Given the description of an element on the screen output the (x, y) to click on. 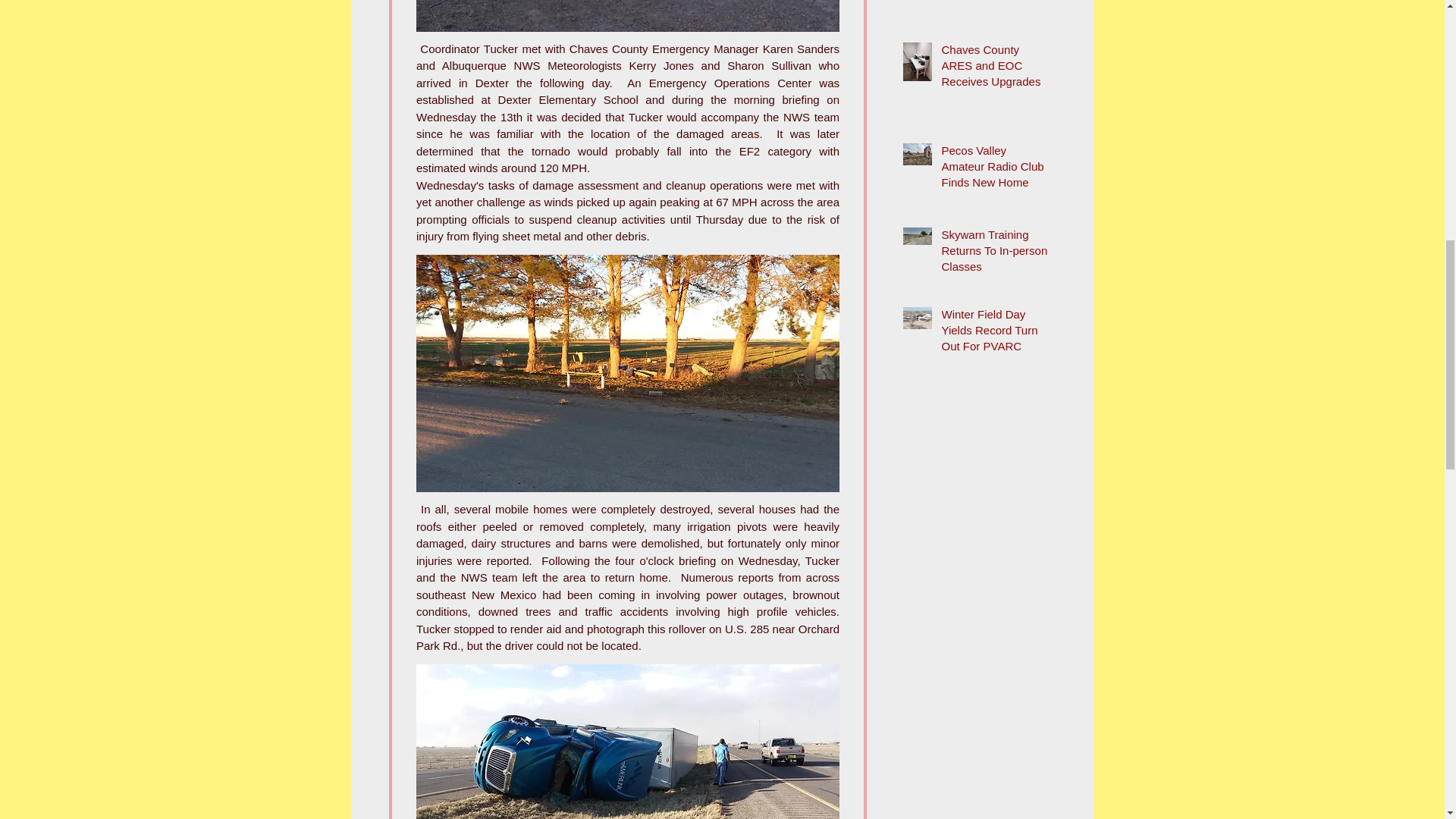
Chaves County ARES and EOC Receives Upgrades (996, 68)
Winter Field Day Yields Record Turn Out For PVARC (996, 333)
Skywarn Training Returns To In-person Classes (996, 253)
Pecos Valley Amateur Radio Club Finds New Home (996, 169)
Roswell Repeater Changes Hands (981, 0)
